Given the description of an element on the screen output the (x, y) to click on. 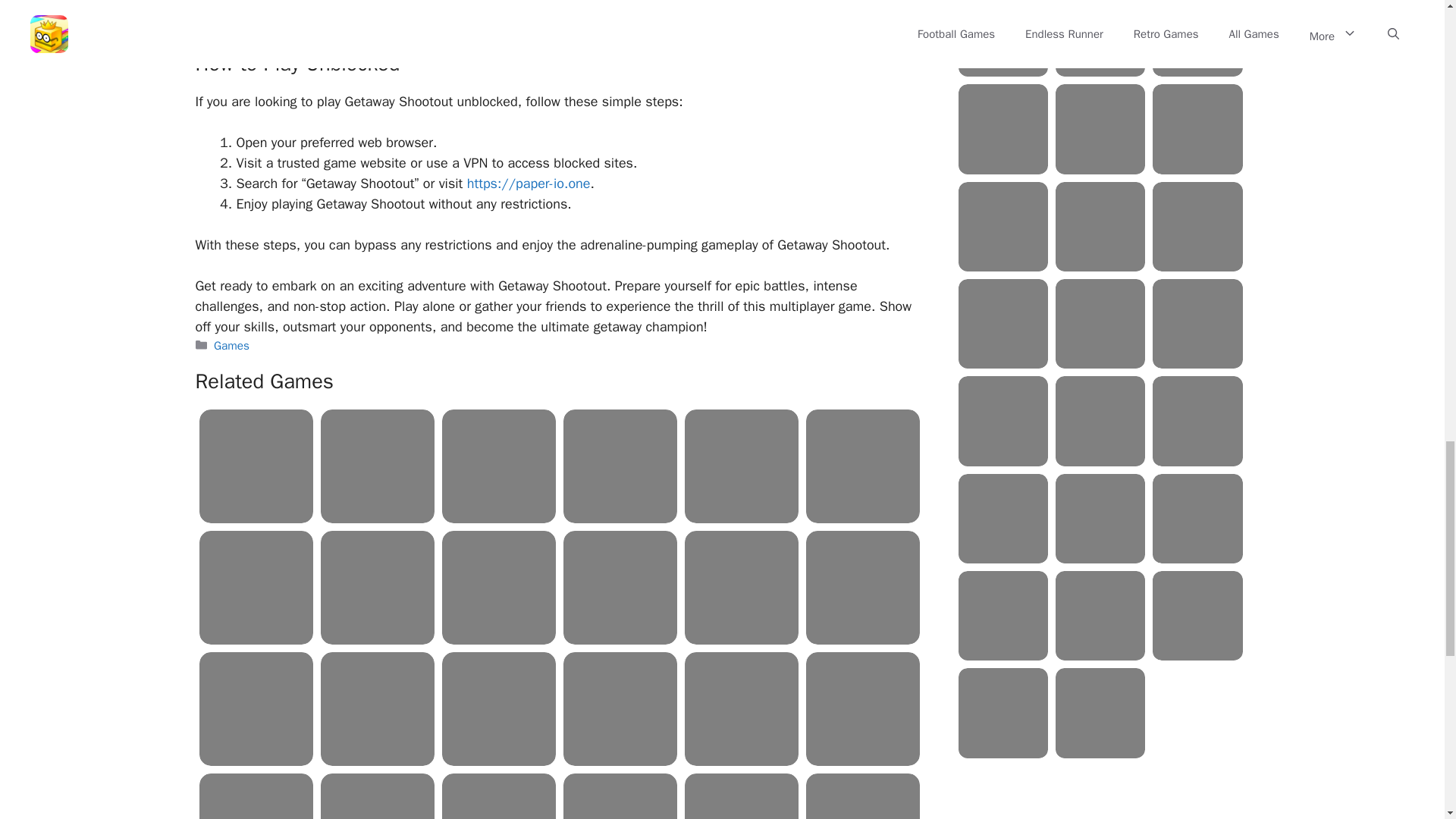
Two Neon Boxes (256, 708)
Doodle Jump (499, 466)
Color Tunnel (376, 466)
Games (231, 345)
OvO (376, 587)
Money Clicker (376, 708)
Chrome Dinosaur Game (499, 708)
Basketball Legends (620, 587)
Cookie Clicker (256, 587)
Crazy Cars (863, 587)
Bloxorz (863, 466)
Minicars Soccer (740, 466)
Paper 2 (256, 466)
Slope Tunnel (499, 587)
OvO 2 (620, 466)
